Given the description of an element on the screen output the (x, y) to click on. 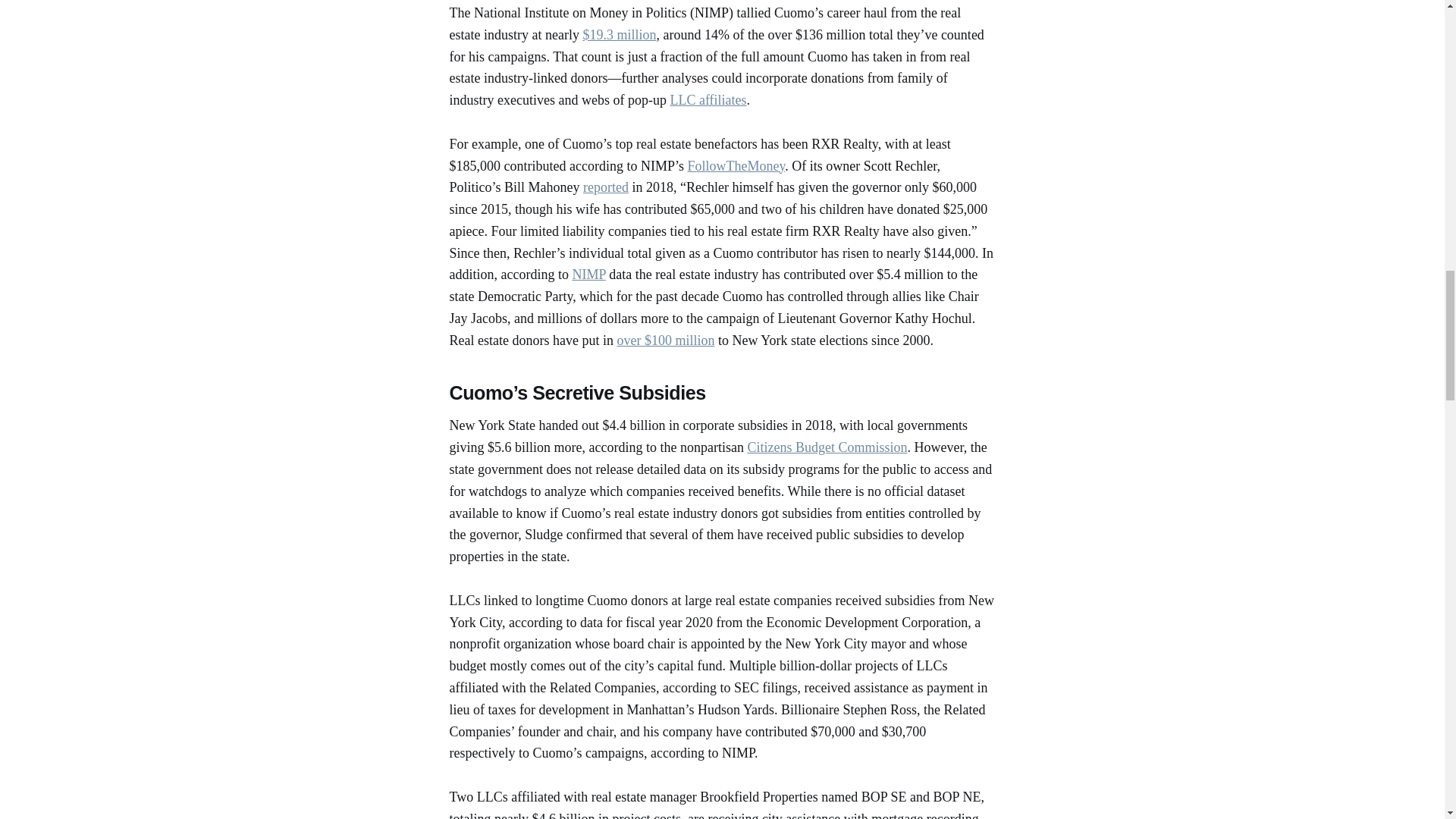
Citizens Budget Commission (826, 447)
LLC affiliates (707, 99)
reported (605, 186)
NIMP (588, 273)
FollowTheMoney (735, 165)
